Given the description of an element on the screen output the (x, y) to click on. 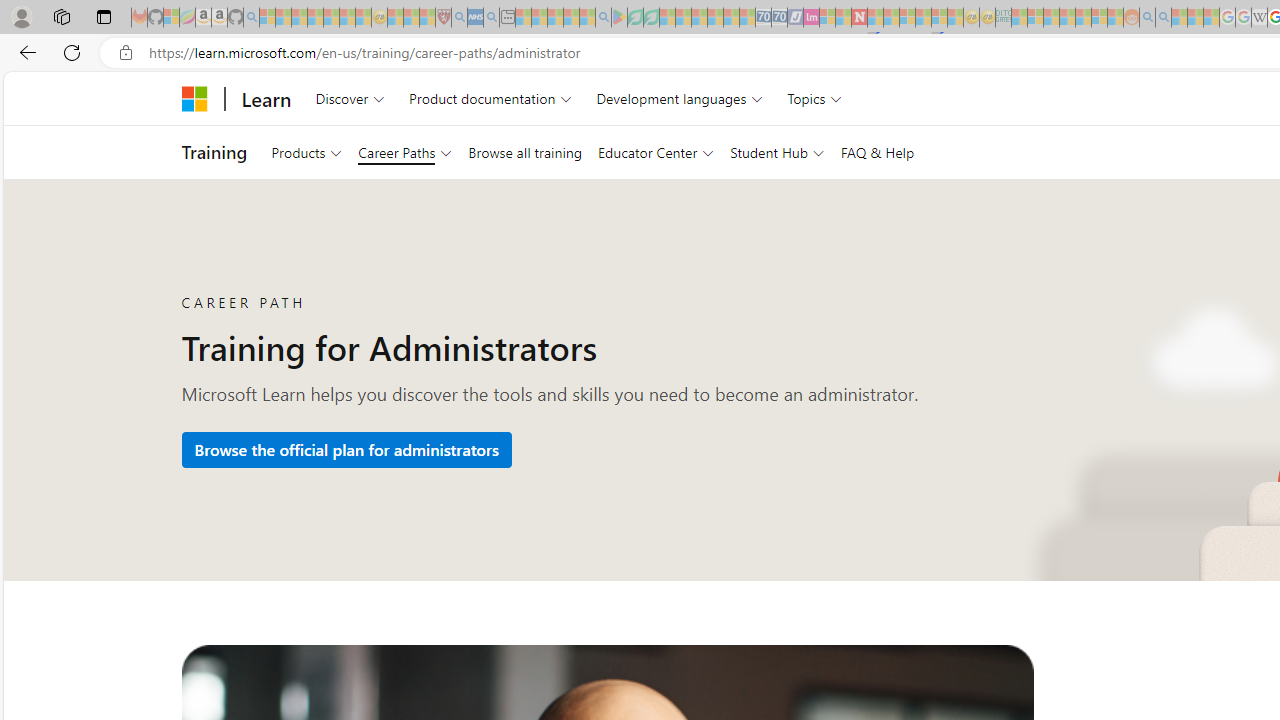
Browse all training (524, 152)
FAQ & Help (877, 152)
list of asthma inhalers uk - Search - Sleeping (459, 17)
Development languages (679, 98)
Jobs - lastminute.com Investor Portal - Sleeping (811, 17)
Student Hub (777, 152)
Latest Politics News & Archive | Newsweek.com - Sleeping (859, 17)
